Given the description of an element on the screen output the (x, y) to click on. 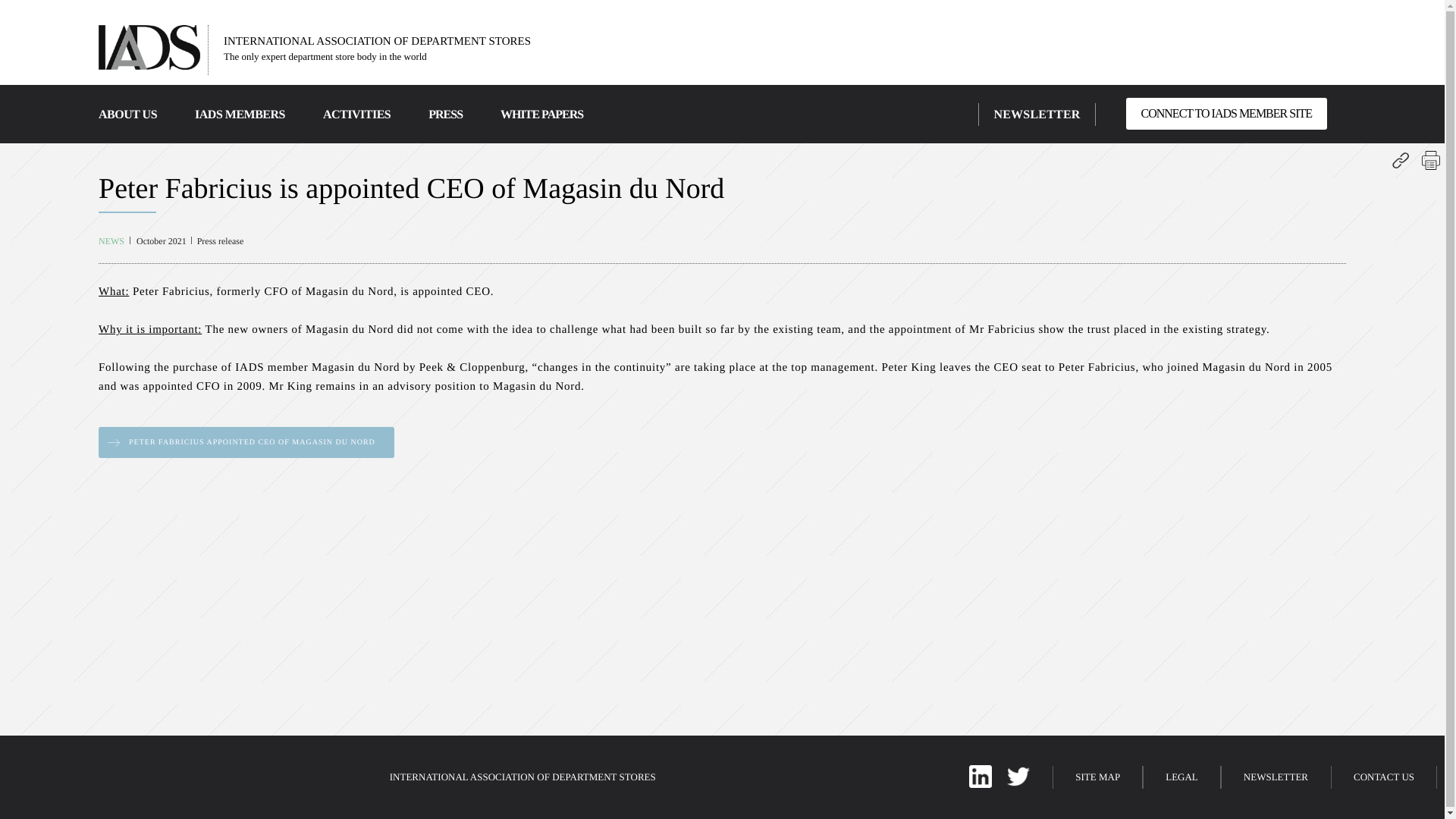
PRESS (445, 114)
NEWSLETTER (1036, 114)
PETER FABRICIUS APPOINTED CEO OF MAGASIN DU NORD (246, 441)
WHITE PAPERS (541, 114)
CONNECT TO IADS MEMBER SITE (1225, 113)
